Given the description of an element on the screen output the (x, y) to click on. 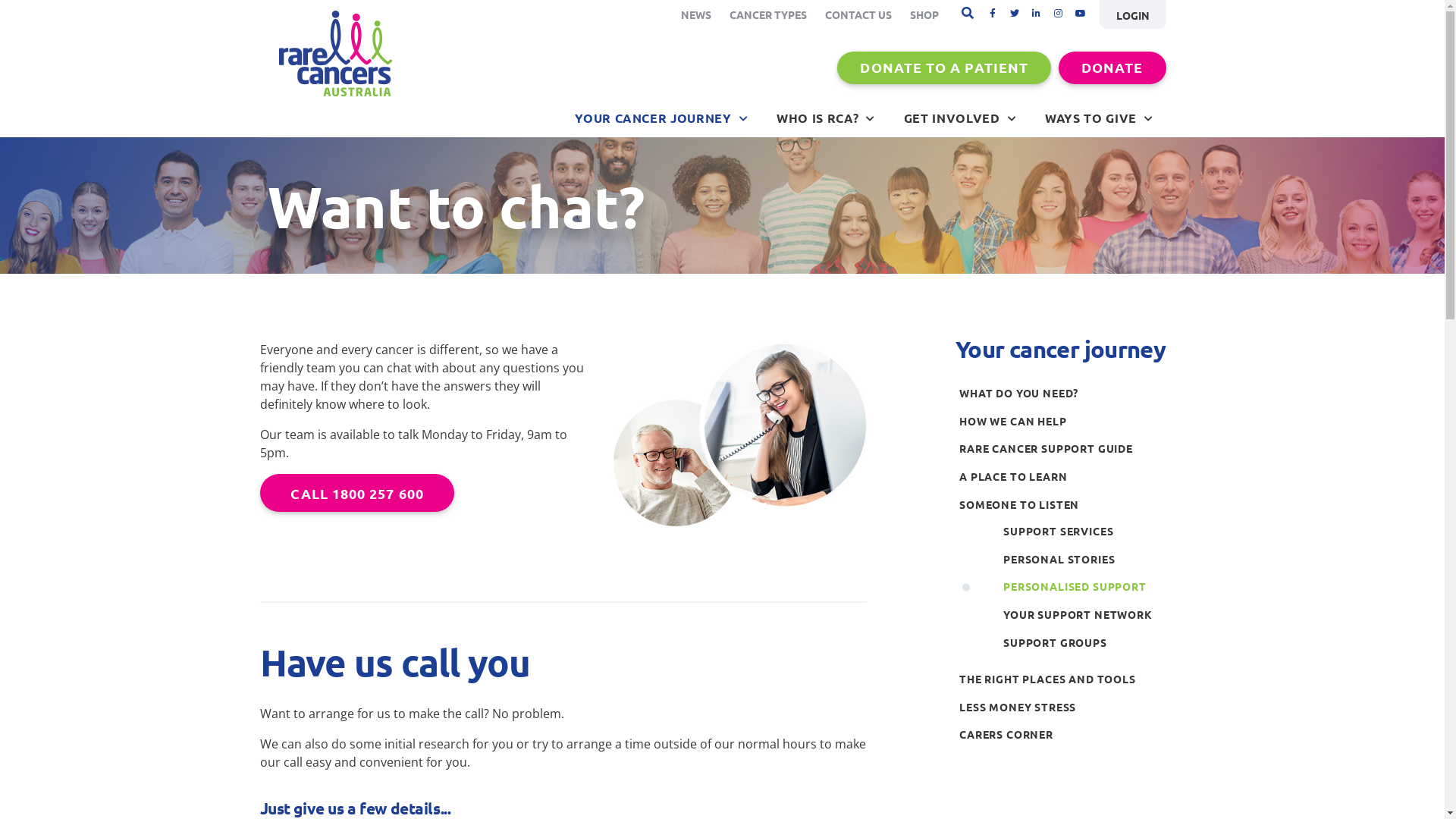
A PLACE TO LEARN Element type: text (1066, 476)
LOGIN Element type: text (1132, 14)
SUPPORT GROUPS Element type: text (1088, 642)
CARERS CORNER Element type: text (1066, 734)
WHO IS RCA? Element type: text (825, 118)
NEWS Element type: text (695, 14)
SHOP Element type: text (924, 14)
LESS MONEY STRESS Element type: text (1066, 706)
RARE CANCER SUPPORT GUIDE Element type: text (1066, 448)
PERSONAL STORIES Element type: text (1088, 559)
Your cancer journey Element type: text (1060, 349)
GET INVOLVED Element type: text (960, 118)
CALL 1800 257 600 Element type: text (356, 492)
DONATE TO A PATIENT Element type: text (944, 67)
SOMEONE TO LISTEN Element type: text (1066, 504)
PERSONALISED SUPPORT Element type: text (1088, 586)
HOW WE CAN HELP Element type: text (1066, 421)
SUPPORT SERVICES Element type: text (1088, 530)
WAYS TO GIVE Element type: text (1098, 118)
YOUR SUPPORT NETWORK Element type: text (1088, 614)
YOUR CANCER JOURNEY Element type: text (660, 118)
THE RIGHT PLACES AND TOOLS Element type: text (1066, 678)
WHAT DO YOU NEED? Element type: text (1066, 392)
CONTACT US Element type: text (858, 14)
CANCER TYPES Element type: text (767, 14)
DONATE Element type: text (1111, 67)
